Given the description of an element on the screen output the (x, y) to click on. 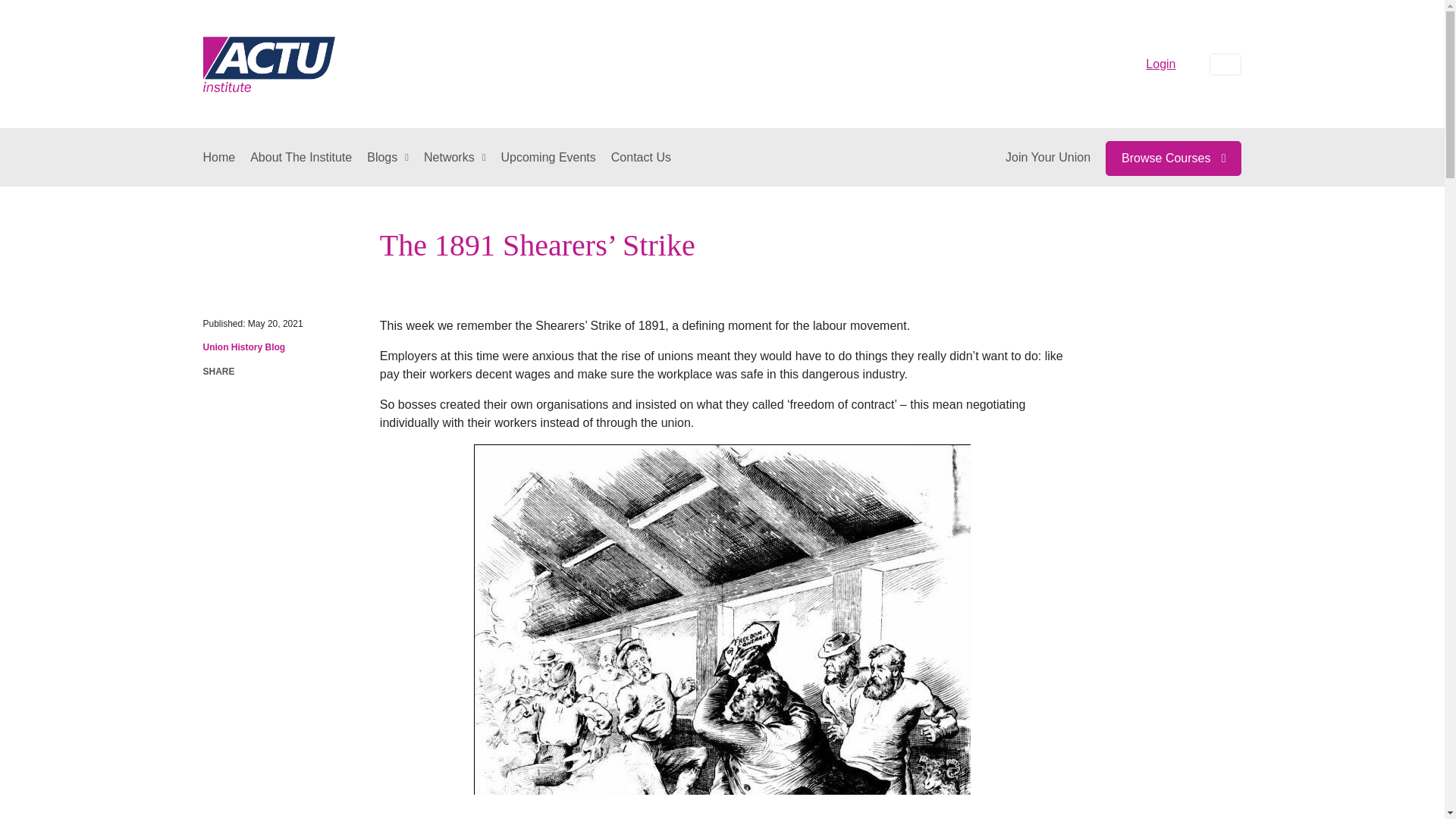
Login Element type: text (1165, 63)
Contact Us Element type: text (641, 157)
SHARE Element type: text (220, 371)
Browse Courses Element type: text (1173, 158)
About The Institute Element type: text (300, 157)
Home Element type: text (219, 157)
Blogs Element type: text (387, 157)
Join Your Union Element type: text (1047, 157)
Upcoming Events Element type: text (547, 157)
Union History Blog Element type: text (244, 347)
atui-logo Element type: hover (269, 63)
Networks Element type: text (454, 157)
